Given the description of an element on the screen output the (x, y) to click on. 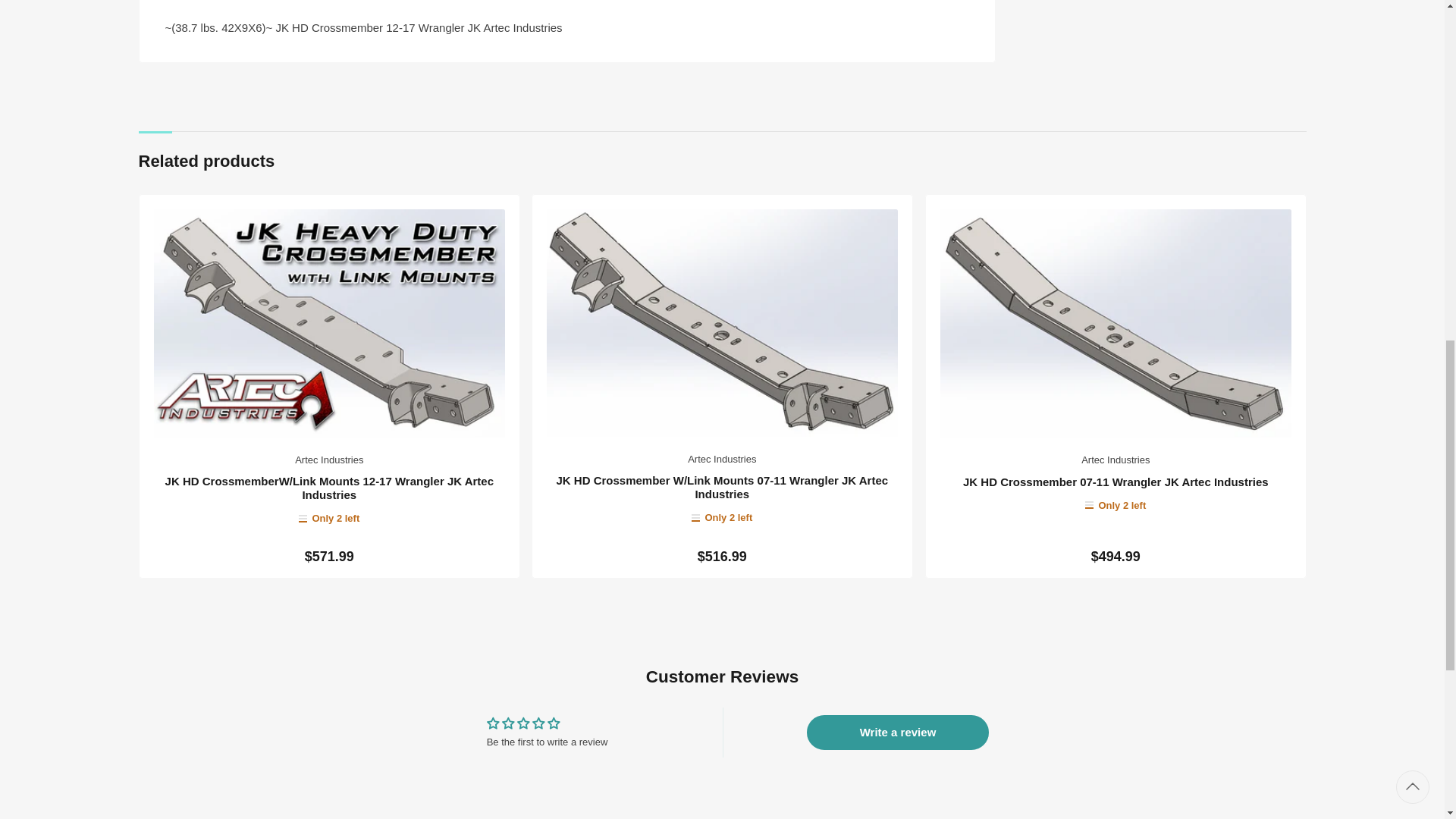
Artec Industries (1115, 460)
Artec Industries (328, 460)
Artec Industries (721, 459)
